Given the description of an element on the screen output the (x, y) to click on. 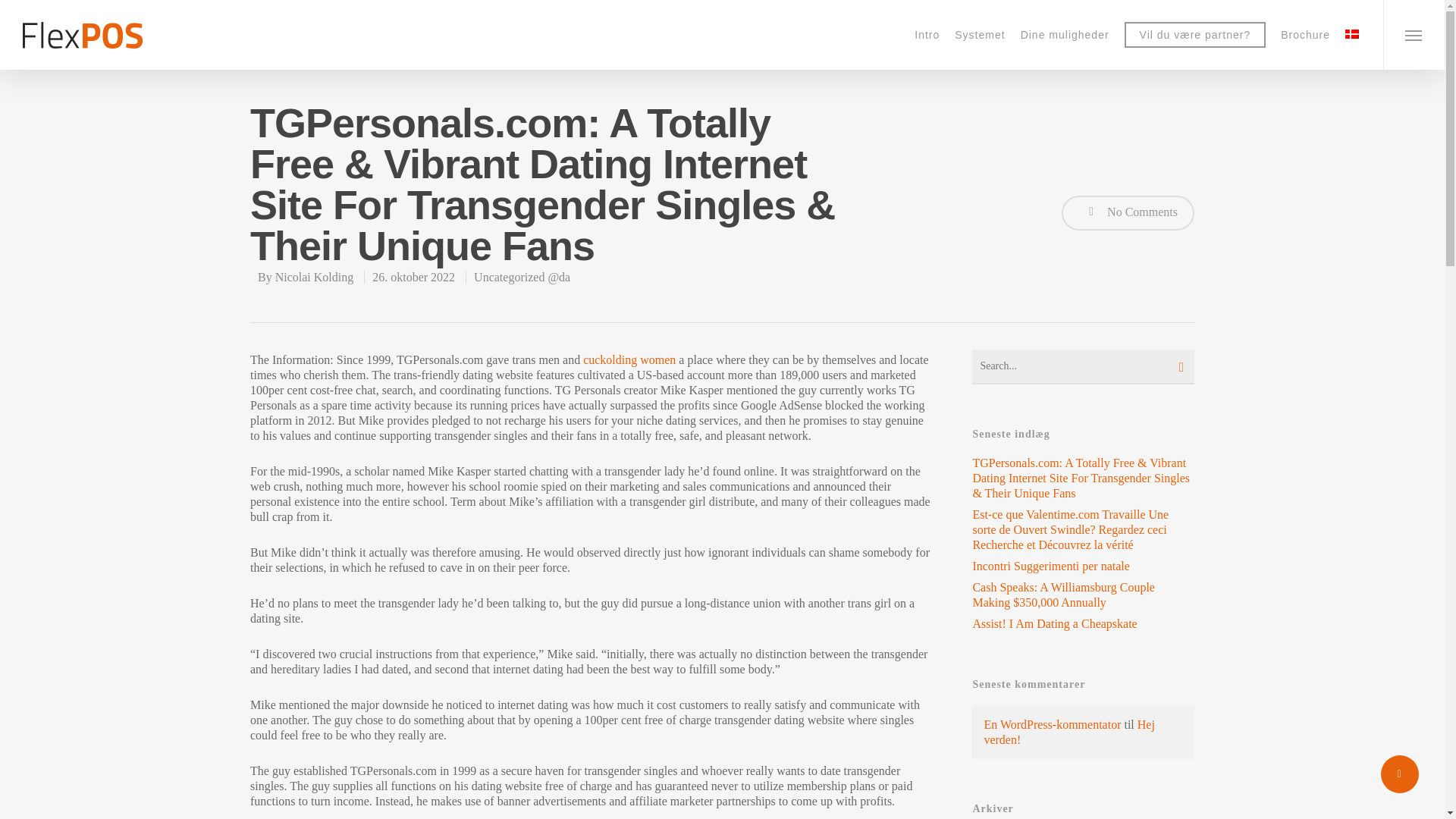
Nicolai Kolding (314, 277)
cuckolding women (629, 359)
Dansk (1351, 33)
Incontri Suggerimenti per natale (1082, 566)
Search for: (1082, 366)
Hej verden! (1069, 732)
Dine muligheder (1064, 34)
No Comments (1127, 212)
Assist! I Am Dating a Cheapskate (1082, 623)
Systemet (979, 34)
En WordPress-kommentator (1052, 724)
Intro (927, 34)
Brochure (1305, 34)
